Given the description of an element on the screen output the (x, y) to click on. 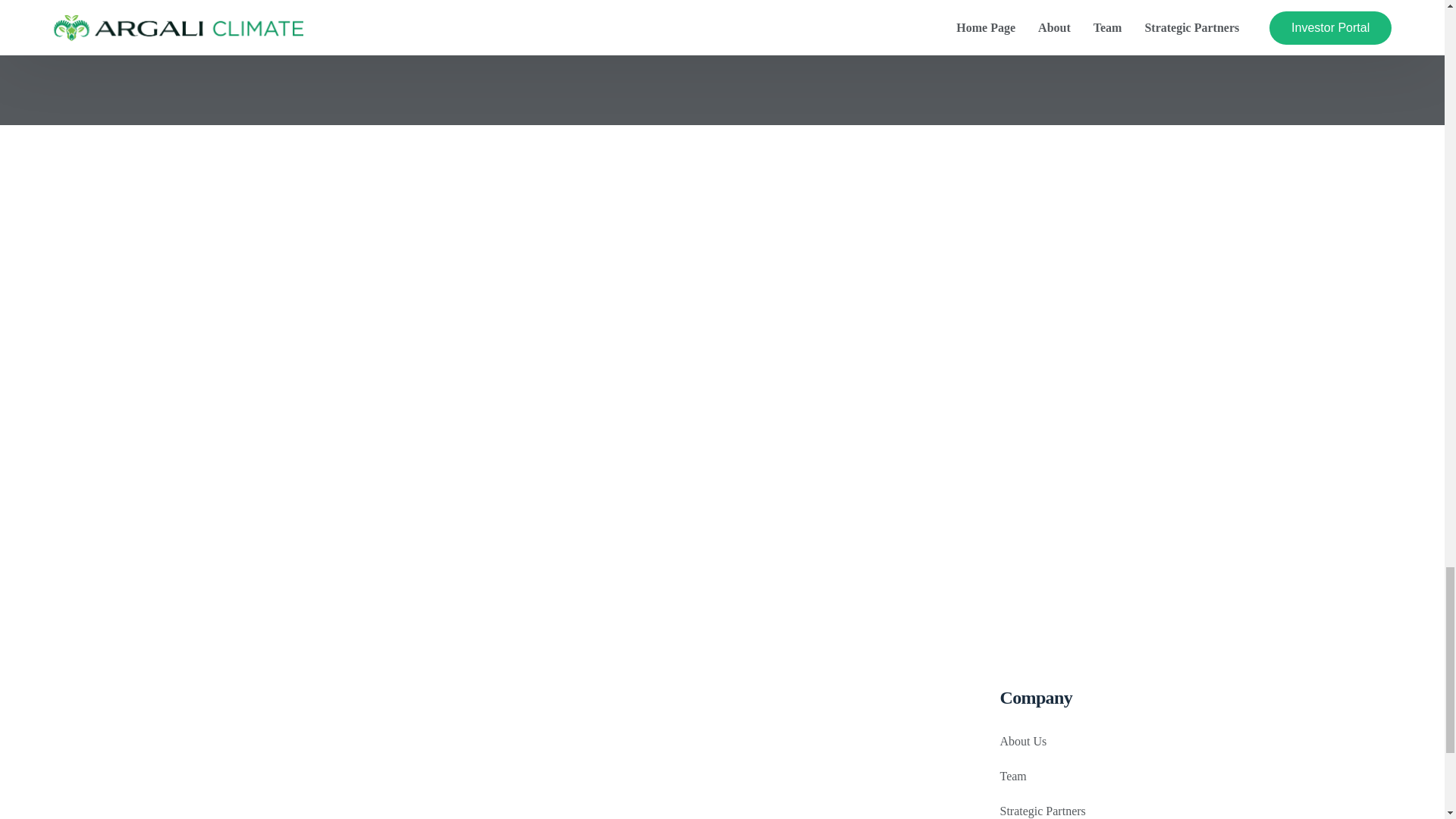
Strategic Partners (1041, 810)
About Us (1022, 740)
Team (1012, 775)
